Given the description of an element on the screen output the (x, y) to click on. 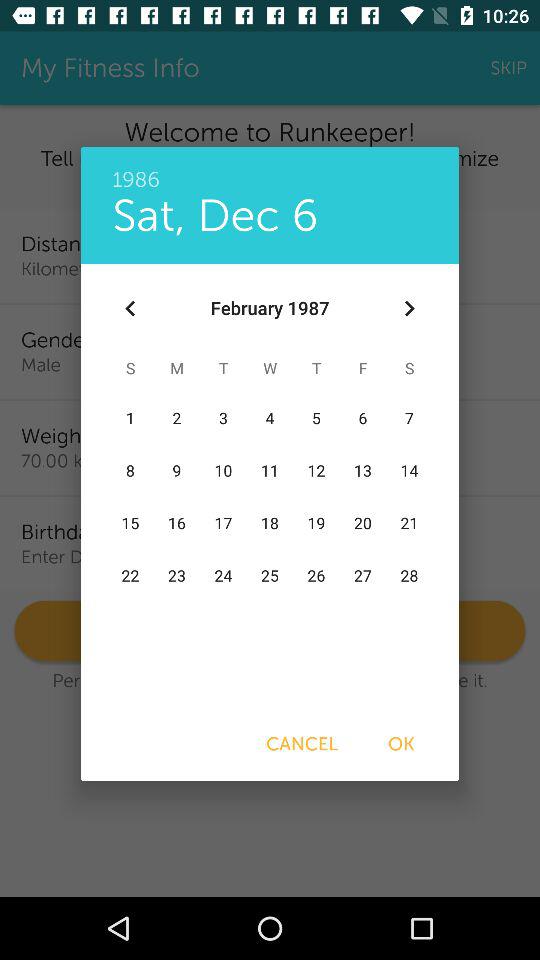
turn on icon to the left of ok icon (301, 743)
